Given the description of an element on the screen output the (x, y) to click on. 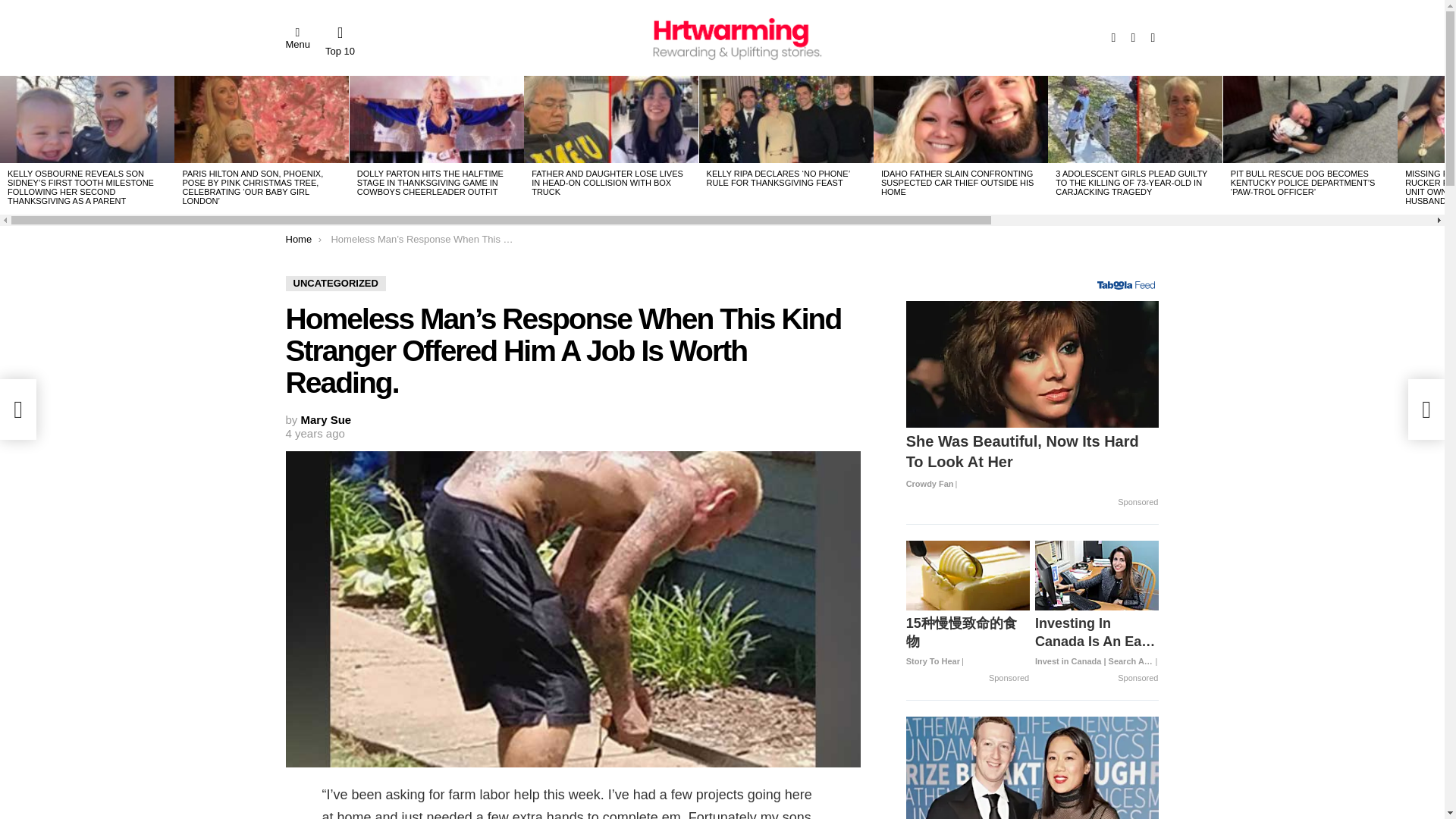
UNCATEGORIZED (335, 283)
Posts by Mary Sue (326, 419)
Top 10 (339, 40)
July 21, 2020, 11:28 am (314, 433)
Home (298, 238)
